Given the description of an element on the screen output the (x, y) to click on. 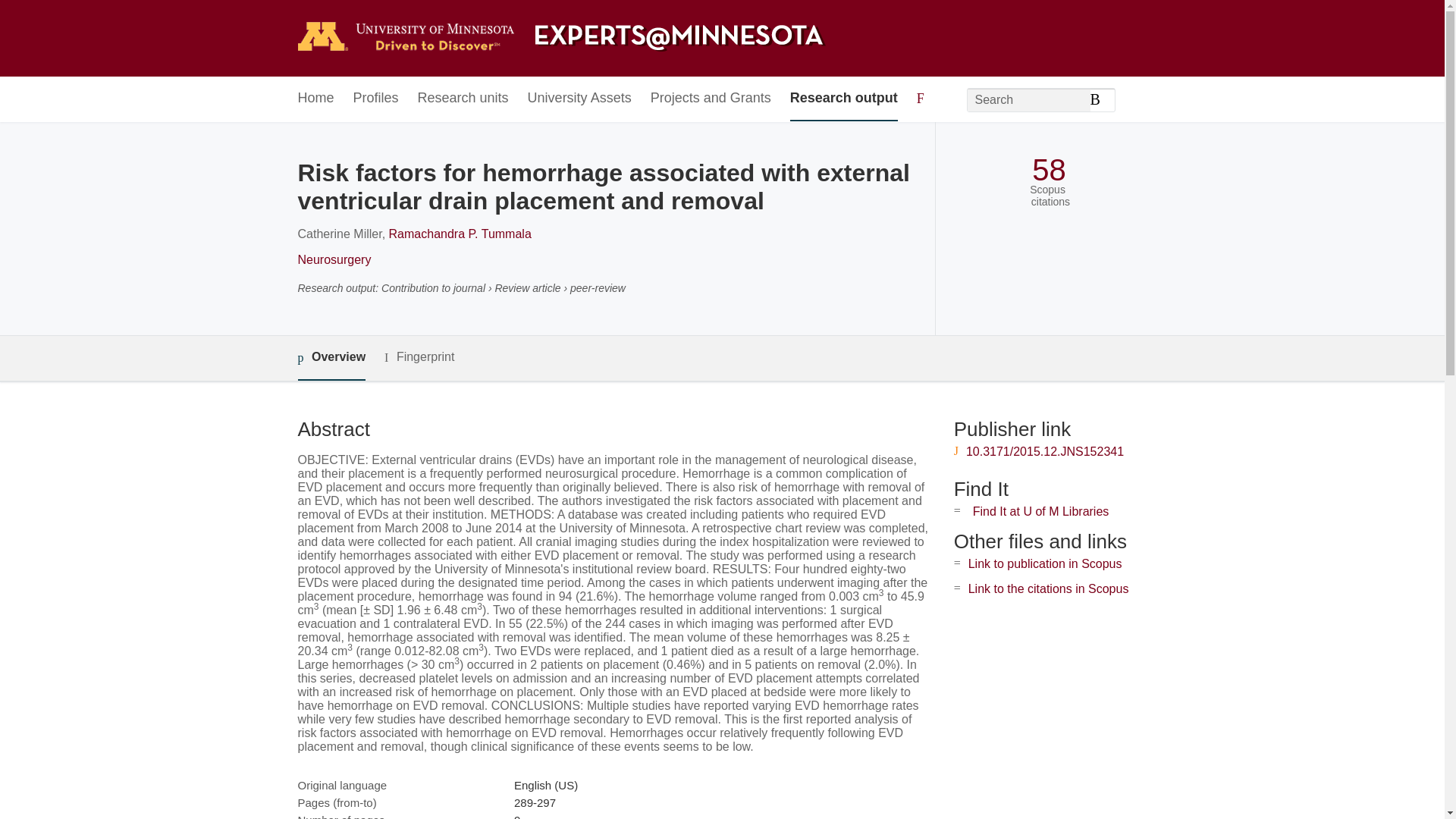
Research units (462, 98)
University Assets (579, 98)
Find It at U of M Libraries (1040, 511)
Profiles (375, 98)
Fingerprint (419, 357)
58 (1048, 170)
Projects and Grants (710, 98)
Ramachandra P. Tummala (459, 233)
Neurosurgery (334, 259)
Overview (331, 357)
Research output (844, 98)
Link to the citations in Scopus (1048, 588)
Home (315, 98)
Link to publication in Scopus (1045, 563)
